Given the description of an element on the screen output the (x, y) to click on. 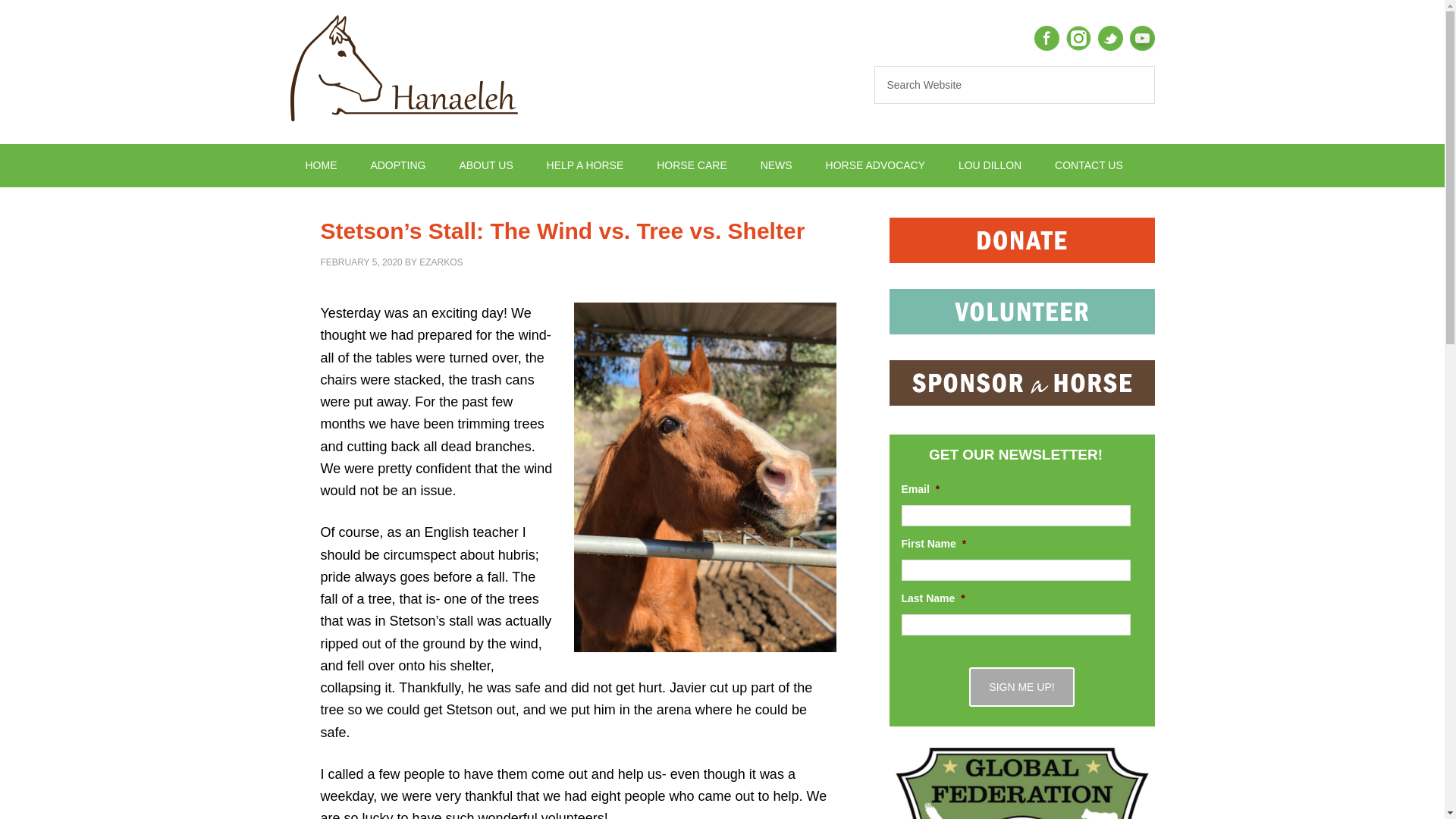
SIGN ME UP! (1021, 686)
HOME (320, 165)
HELP A HORSE (585, 165)
ADOPTING (398, 165)
HANAELEH HORSE RESCUE AND ADVOCACY (418, 71)
HORSE CARE (692, 165)
ABOUT US (485, 165)
